Given the description of an element on the screen output the (x, y) to click on. 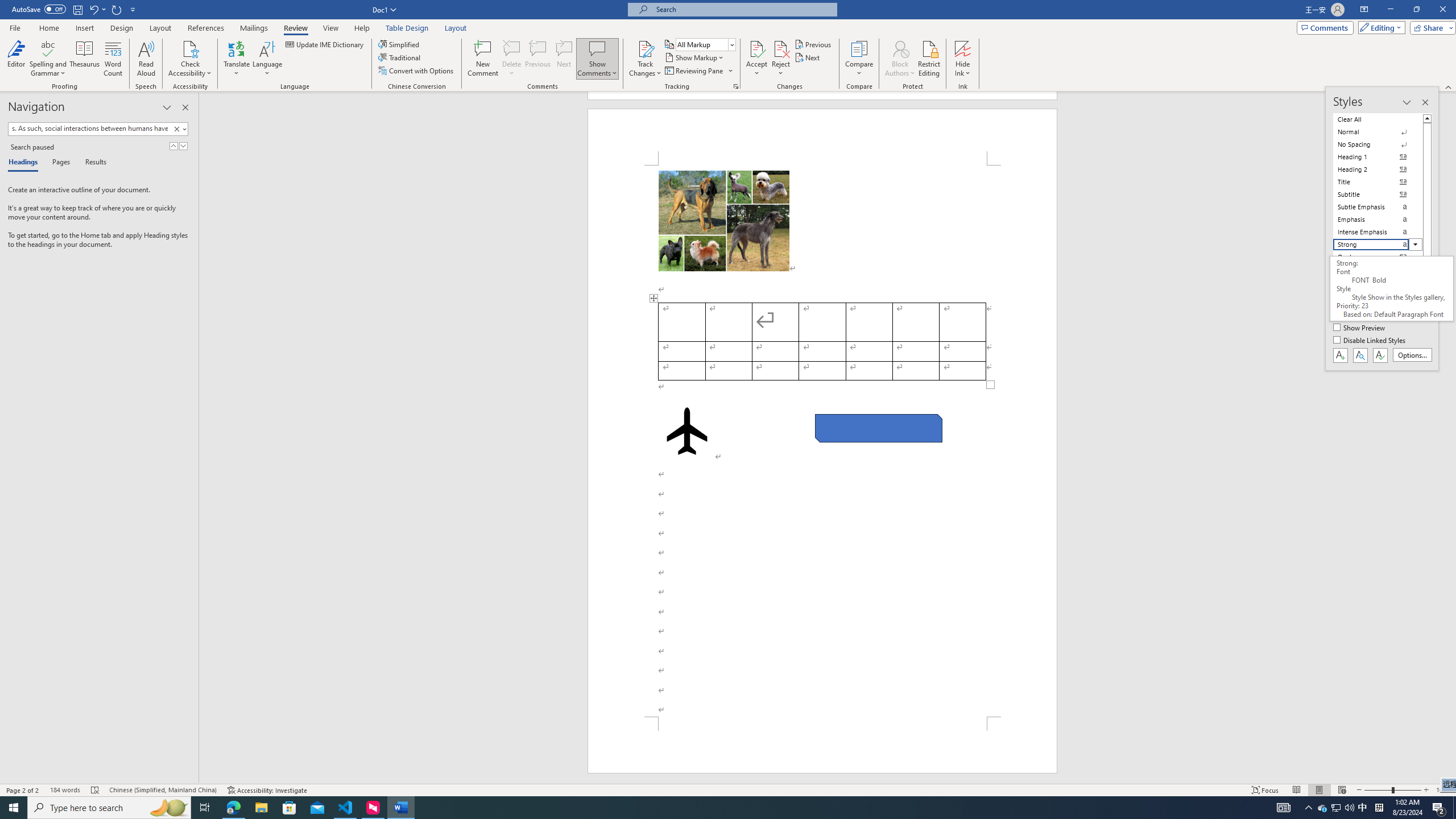
Class: NetUIButton (1380, 355)
Show Preview (1360, 328)
Update IME Dictionary... (324, 44)
Heading 2 (1377, 169)
Show Comments (597, 48)
Language Chinese (Simplified, Mainland China) (162, 790)
Editing (1379, 27)
Previous (813, 44)
Microsoft search (742, 9)
Table Design (407, 28)
